Given the description of an element on the screen output the (x, y) to click on. 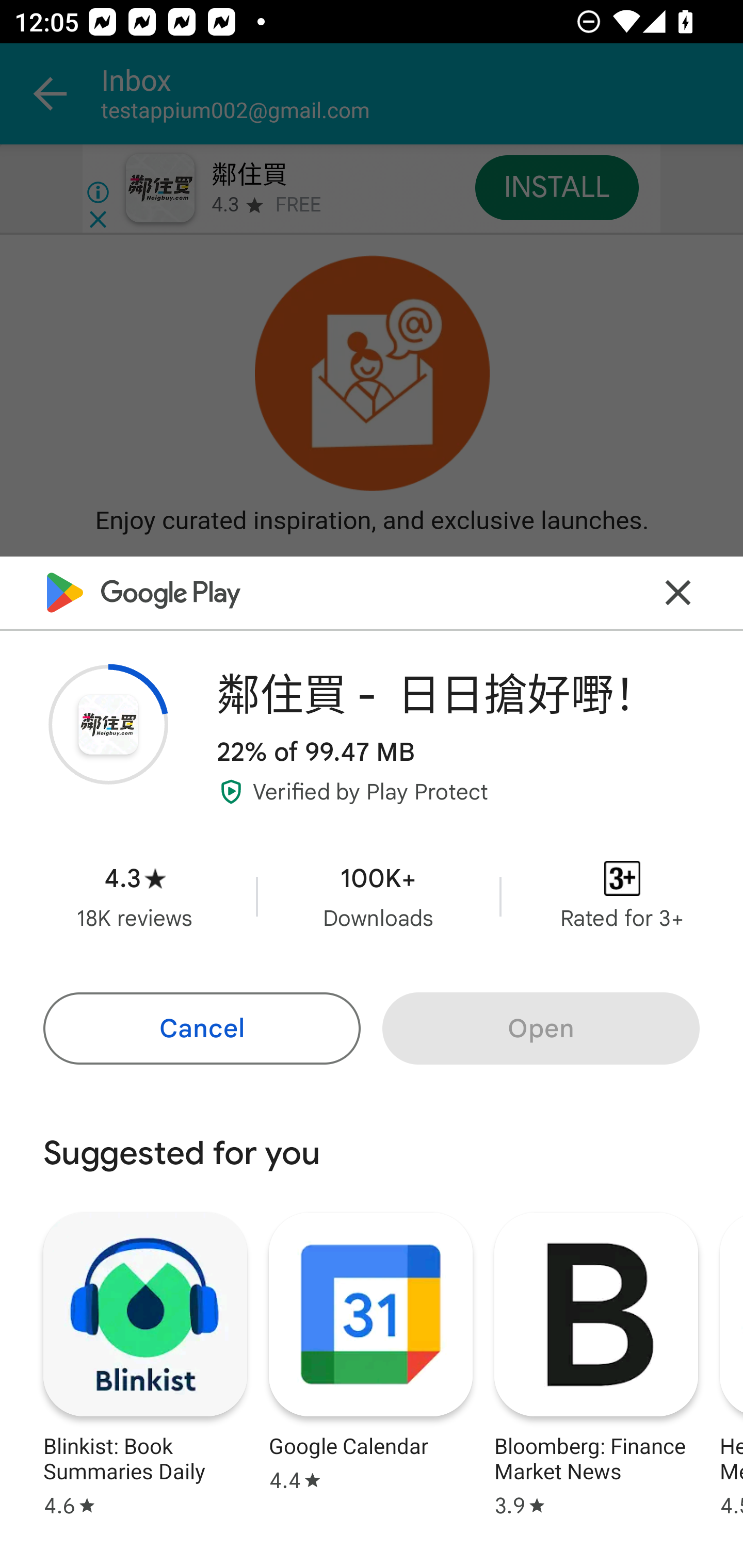
Close (677, 592)
Image of app or game icon for 鄰住買 -  日日搶好嘢！ (108, 724)
Cancel (201, 1028)
App: Google Calendar
Star rating: 4.4


 (370, 1362)
